Given the description of an element on the screen output the (x, y) to click on. 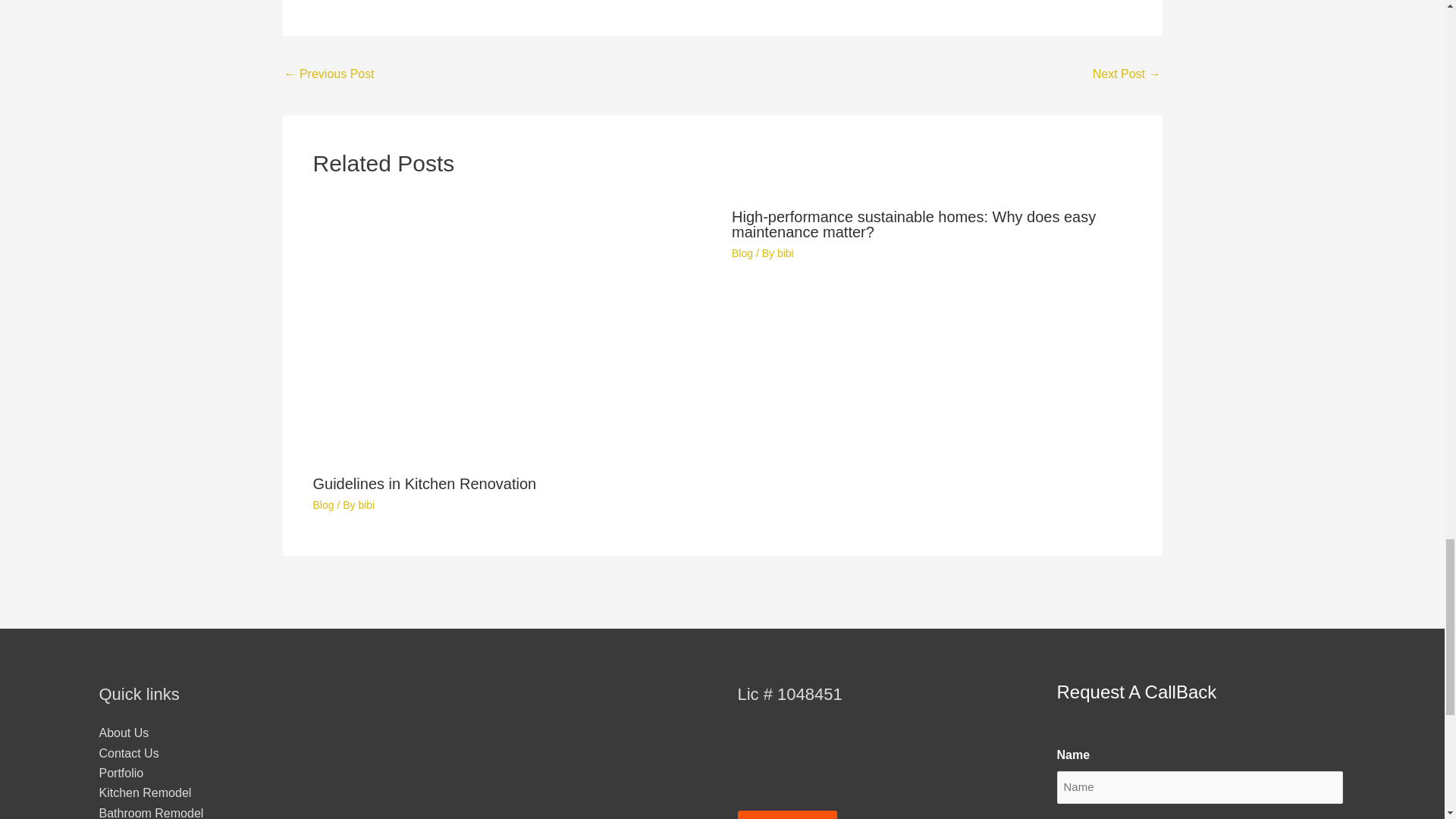
Bathroom Remodel (151, 812)
View all posts by bibi (366, 504)
Blog (323, 504)
View all posts by bibi (785, 253)
Creating Masterpieces with a 3D House Designer (1126, 75)
bibi (785, 253)
bibi (366, 504)
Portfolio (120, 772)
Blog (742, 253)
